Given the description of an element on the screen output the (x, y) to click on. 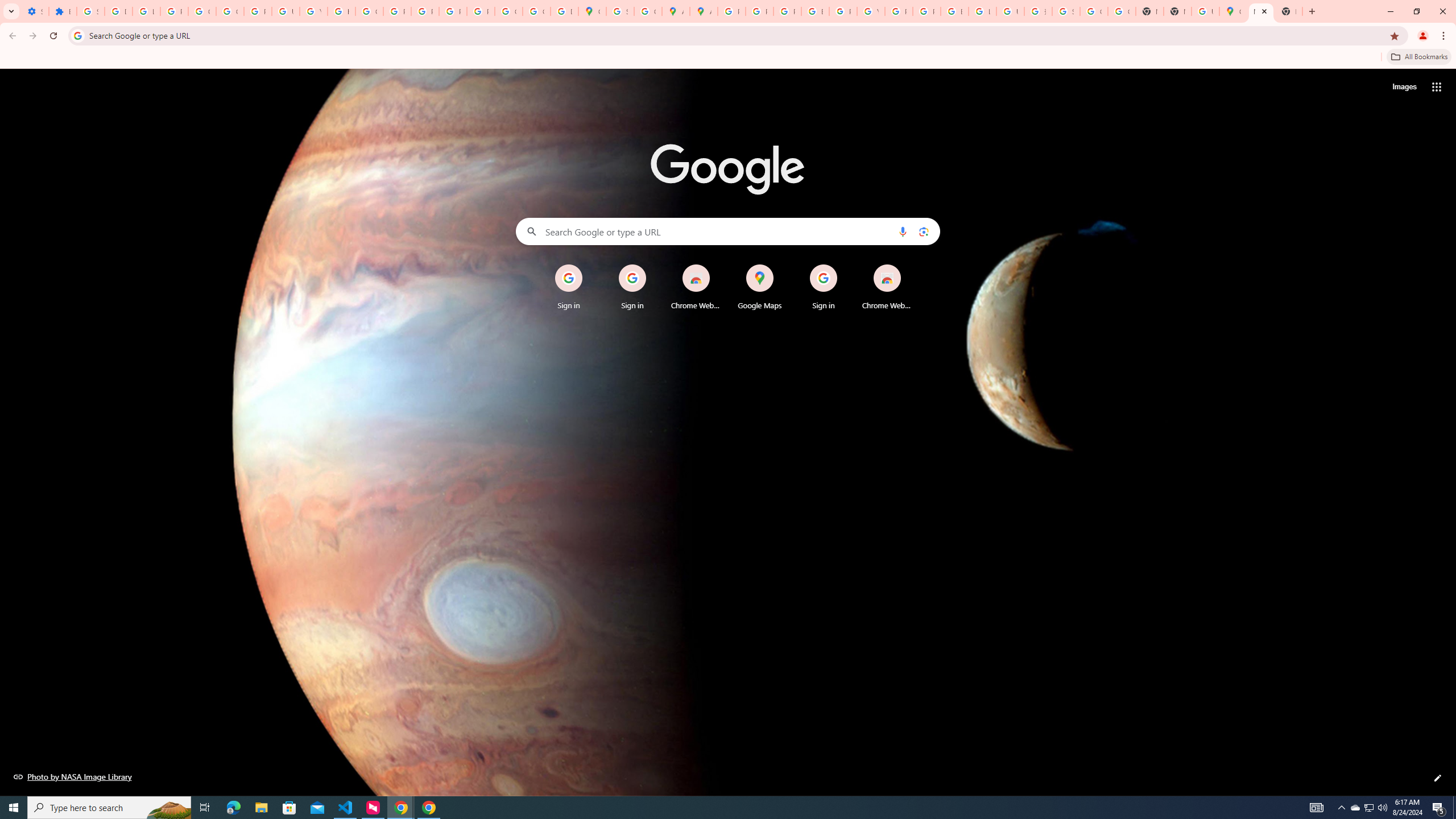
Privacy Help Center - Policies Help (397, 11)
Chrome Web Store (887, 287)
Google Account Help (202, 11)
